Given the description of an element on the screen output the (x, y) to click on. 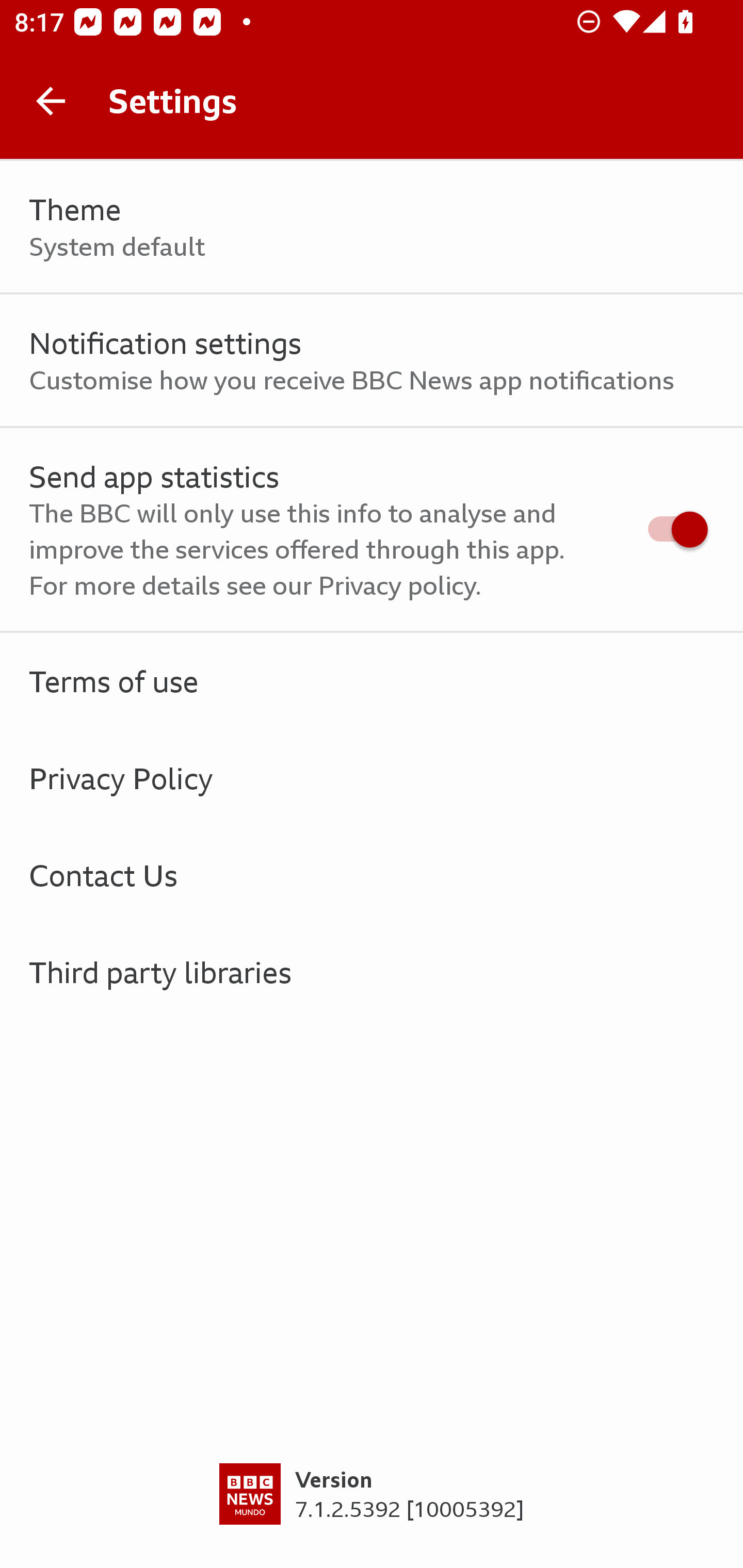
Back (50, 101)
Theme System default (371, 227)
Terms of use (371, 681)
Privacy Policy (371, 777)
Contact Us (371, 874)
Third party libraries (371, 971)
Version 7.1.2.5392 [10005392] (371, 1515)
